Given the description of an element on the screen output the (x, y) to click on. 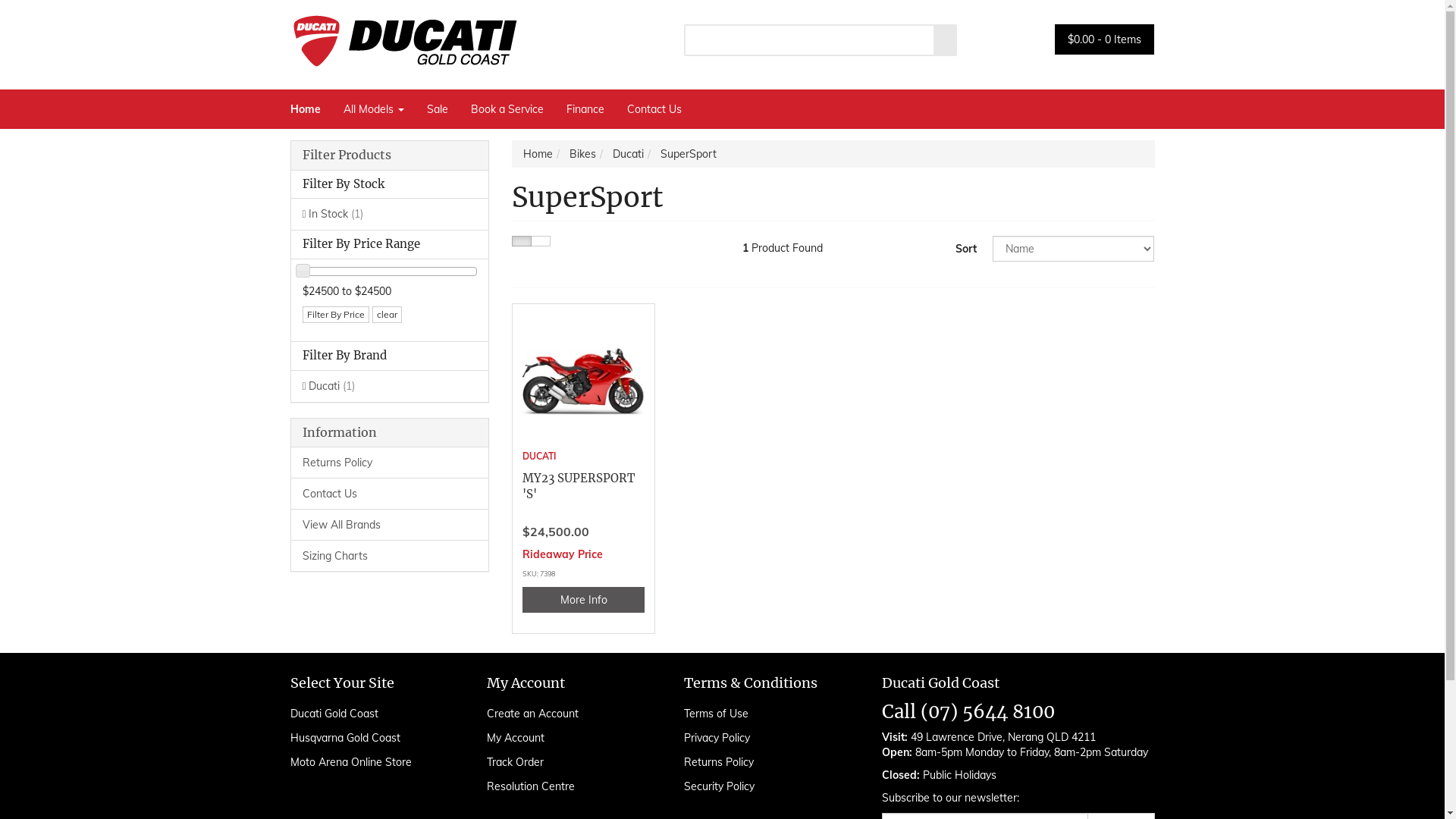
Home Element type: text (537, 153)
Returns Policy Element type: text (390, 462)
Terms of Use Element type: text (765, 713)
Filter By Price Element type: text (334, 314)
SuperSport Element type: text (688, 153)
Create an Account Element type: text (568, 713)
Privacy Policy Element type: text (765, 737)
Track Order Element type: text (568, 761)
View All Brands Element type: text (390, 523)
In Stock (1) Element type: text (390, 213)
Husqvarna Gold Coast Element type: text (371, 737)
Resolution Centre Element type: text (568, 786)
Moto Arena Online Store Element type: text (371, 761)
$0.00 - 0 Items Element type: text (1104, 39)
Ducati Gold Coast Element type: hover (403, 36)
My Account Element type: text (568, 737)
Sizing Charts Element type: text (390, 555)
Search Element type: text (945, 40)
Contact Us Element type: text (390, 492)
All Models Element type: text (373, 109)
Contact Us Element type: text (654, 109)
More Info Element type: text (583, 599)
Sale Element type: text (437, 109)
Returns Policy Element type: text (765, 761)
Home Element type: text (310, 109)
clear Element type: text (386, 314)
MY23 SUPERSPORT 'S' Element type: text (578, 485)
Ducati Gold Coast Element type: text (371, 713)
Finance Element type: text (585, 109)
Ducati Element type: text (627, 153)
Security Policy Element type: text (765, 786)
Book a Service Element type: text (507, 109)
Filter Products Element type: text (388, 155)
Ducati (1) Element type: text (390, 385)
Bikes Element type: text (582, 153)
